Given the description of an element on the screen output the (x, y) to click on. 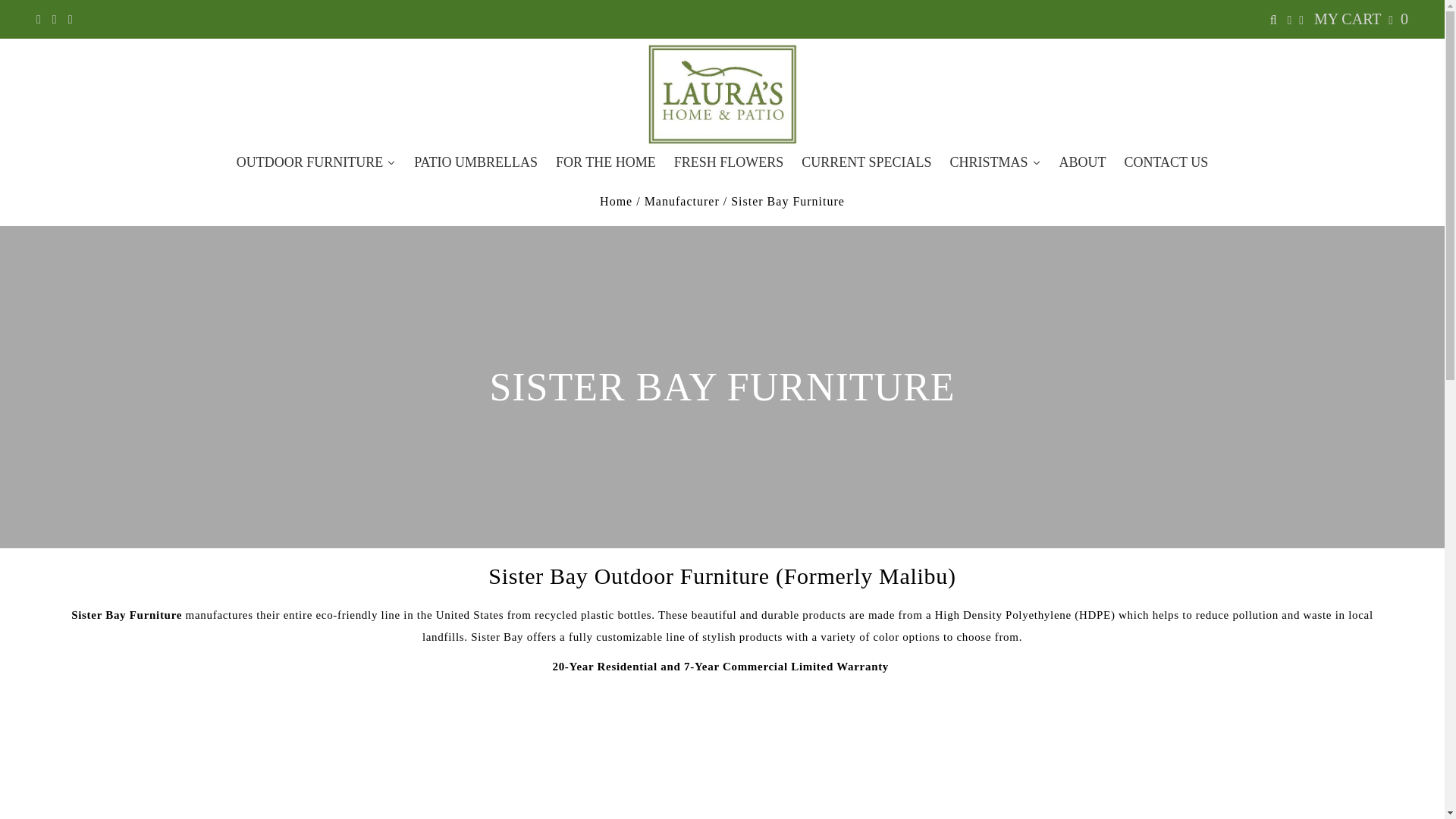
CURRENT SPECIALS (866, 162)
FRESH FLOWERS (729, 162)
FOR THE HOME (606, 162)
FOR THE HOME (606, 162)
Home (615, 201)
PATIO UMBRELLAS (475, 162)
PATIO UMBRELLAS (475, 162)
FRESH FLOWERS (729, 162)
CHRISTMAS (994, 162)
Manufacturer (682, 201)
